Given the description of an element on the screen output the (x, y) to click on. 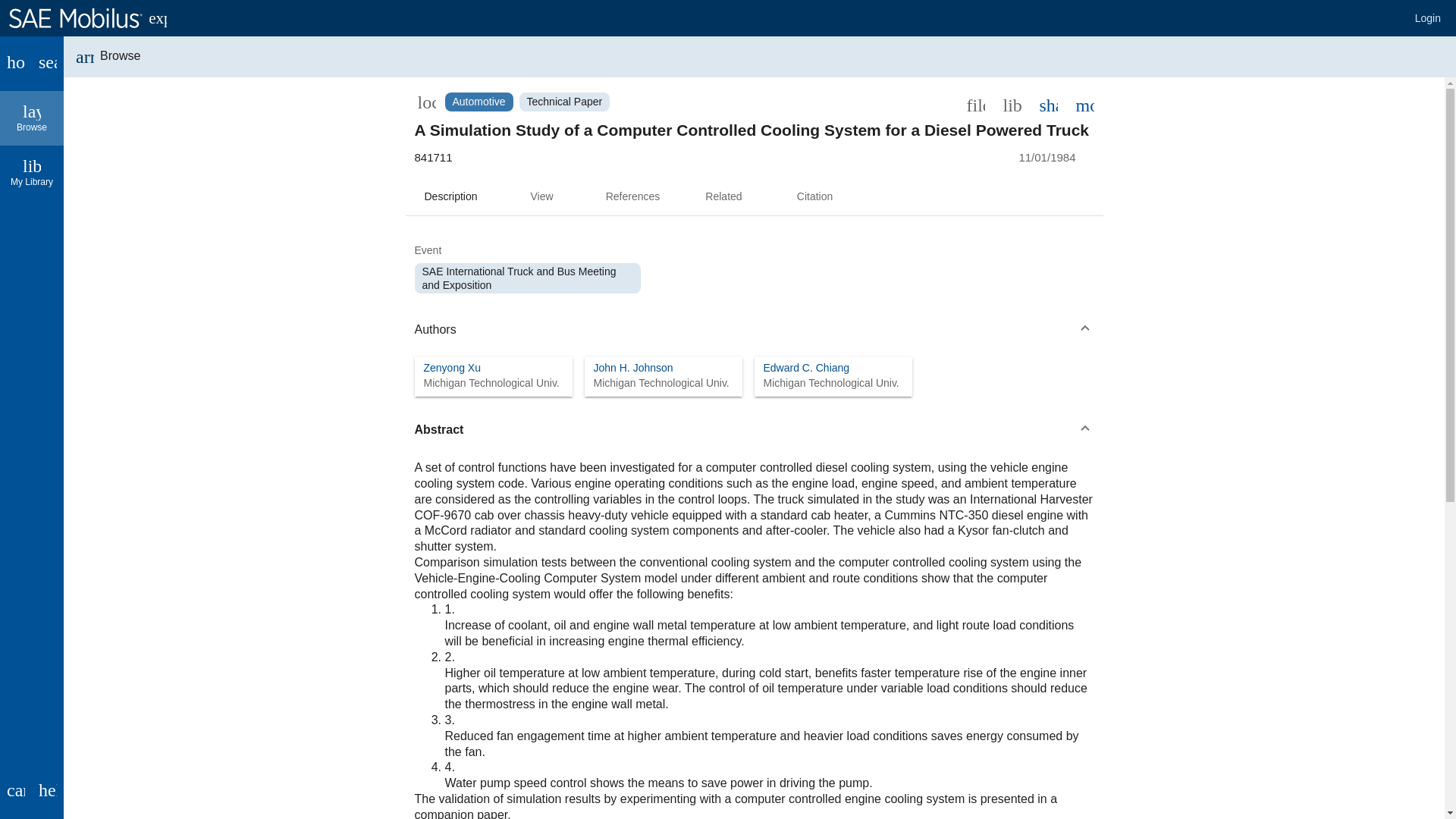
Automotive (478, 101)
lock (425, 101)
View (541, 197)
References (632, 197)
share (1047, 104)
Michigan Technological Univ. (660, 382)
Citation (814, 197)
Related (723, 197)
Technical Paper (564, 101)
